Given the description of an element on the screen output the (x, y) to click on. 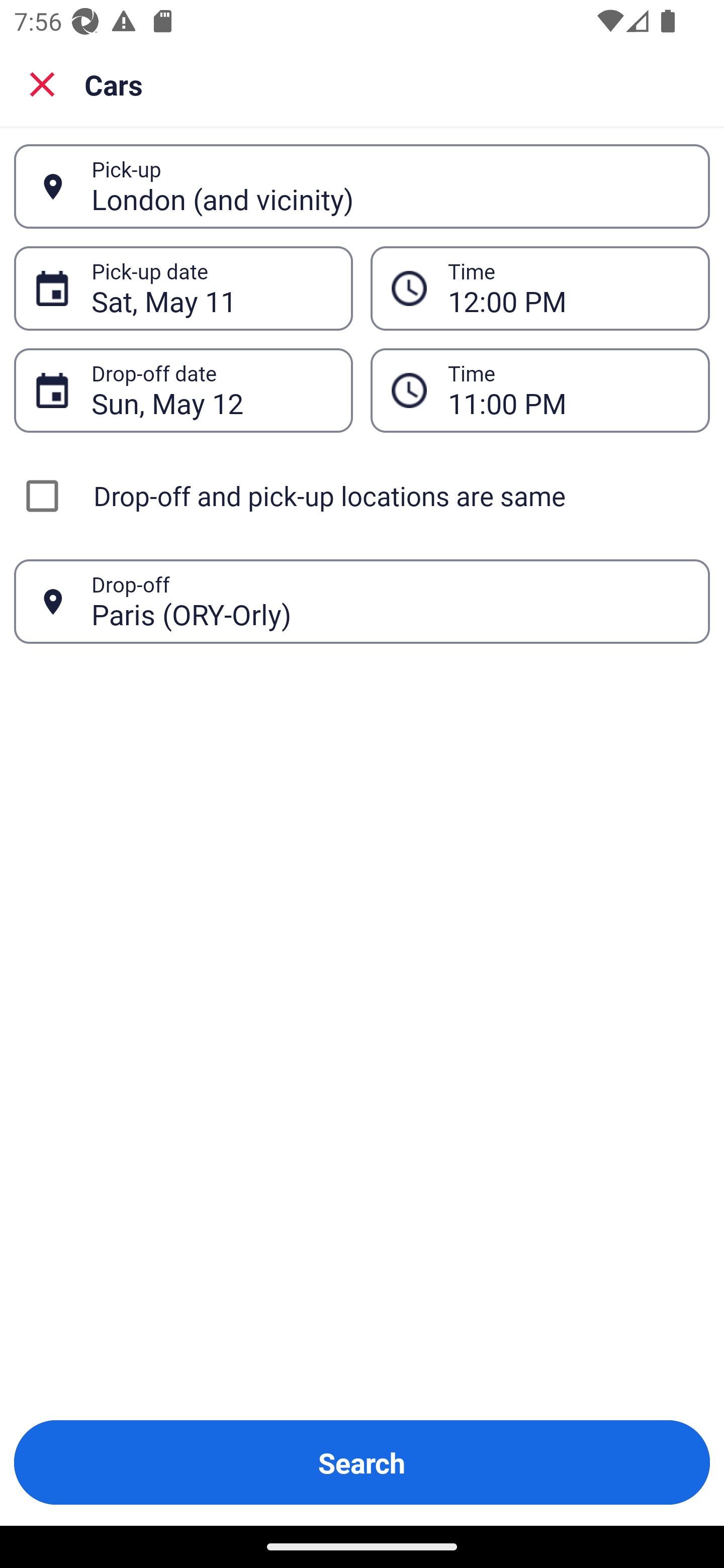
Close search screen (41, 83)
London (and vicinity) Pick-up (361, 186)
London (and vicinity) (389, 186)
Sat, May 11 Pick-up date (183, 288)
12:00 PM (540, 288)
Sat, May 11 (211, 288)
12:00 PM (568, 288)
Sun, May 12 Drop-off date (183, 390)
11:00 PM (540, 390)
Sun, May 12 (211, 390)
11:00 PM (568, 390)
Drop-off and pick-up locations are same (361, 495)
Paris (ORY-Orly) Drop-off (361, 601)
Paris (ORY-Orly) (389, 601)
Search Button Search (361, 1462)
